Given the description of an element on the screen output the (x, y) to click on. 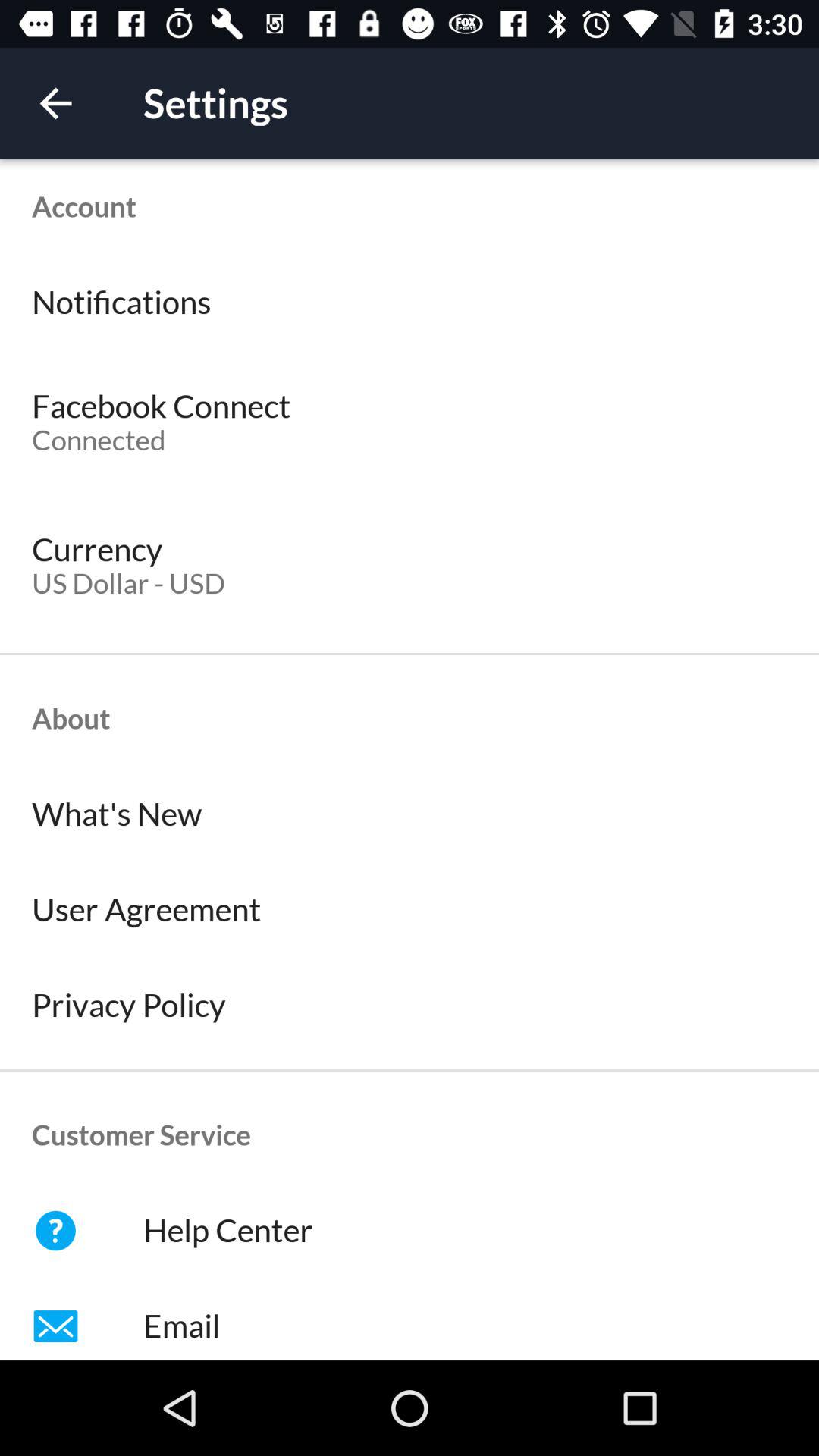
select icon next to the settings item (55, 103)
